Given the description of an element on the screen output the (x, y) to click on. 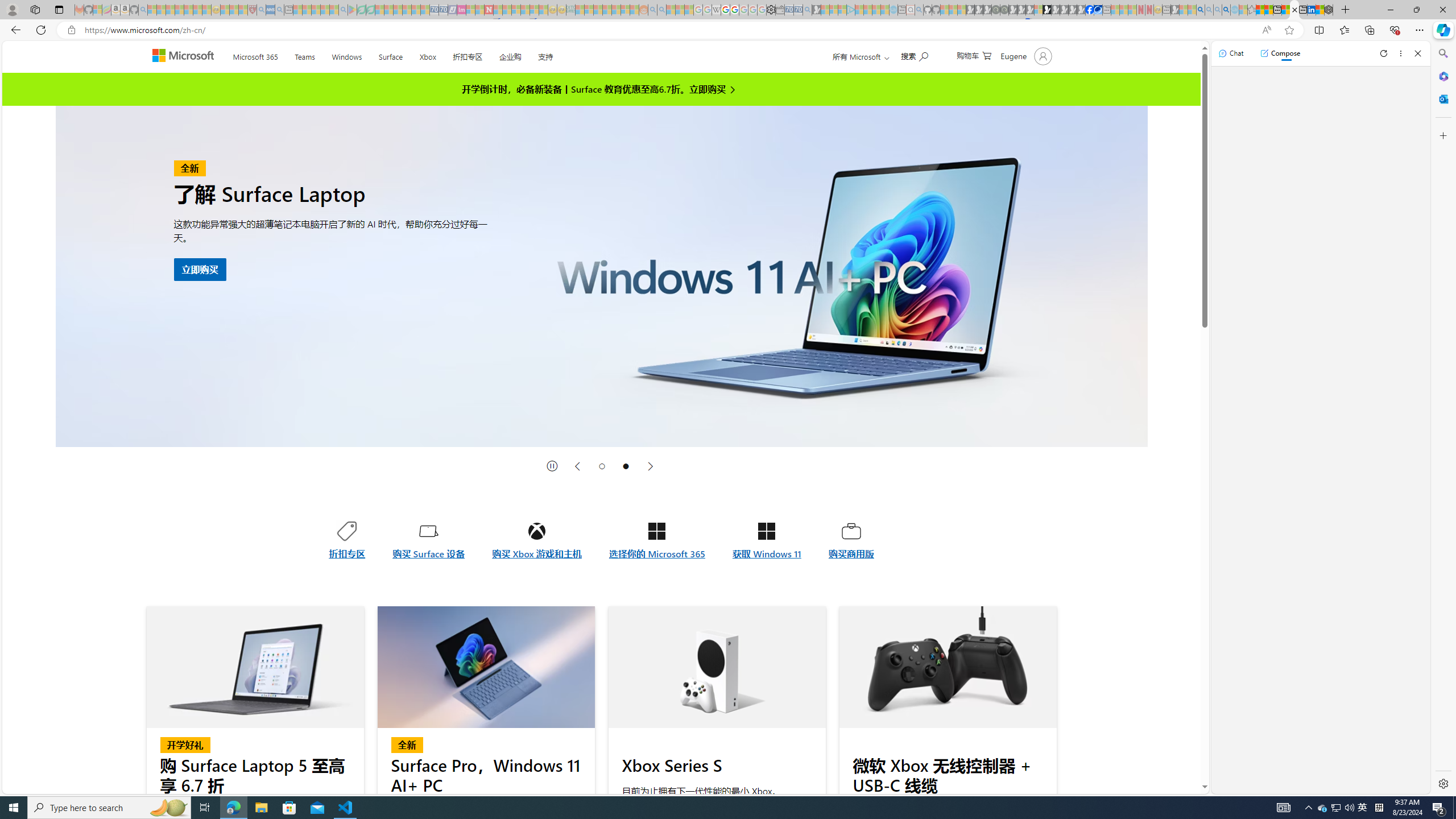
Sign in to your account - Sleeping (1038, 9)
Terms of Use Agreement - Sleeping (361, 9)
New tab - Sleeping (1165, 9)
Robert H. Shmerling, MD - Harvard Health - Sleeping (252, 9)
Bing Real Estate - Home sales and rental listings - Sleeping (806, 9)
